Given the description of an element on the screen output the (x, y) to click on. 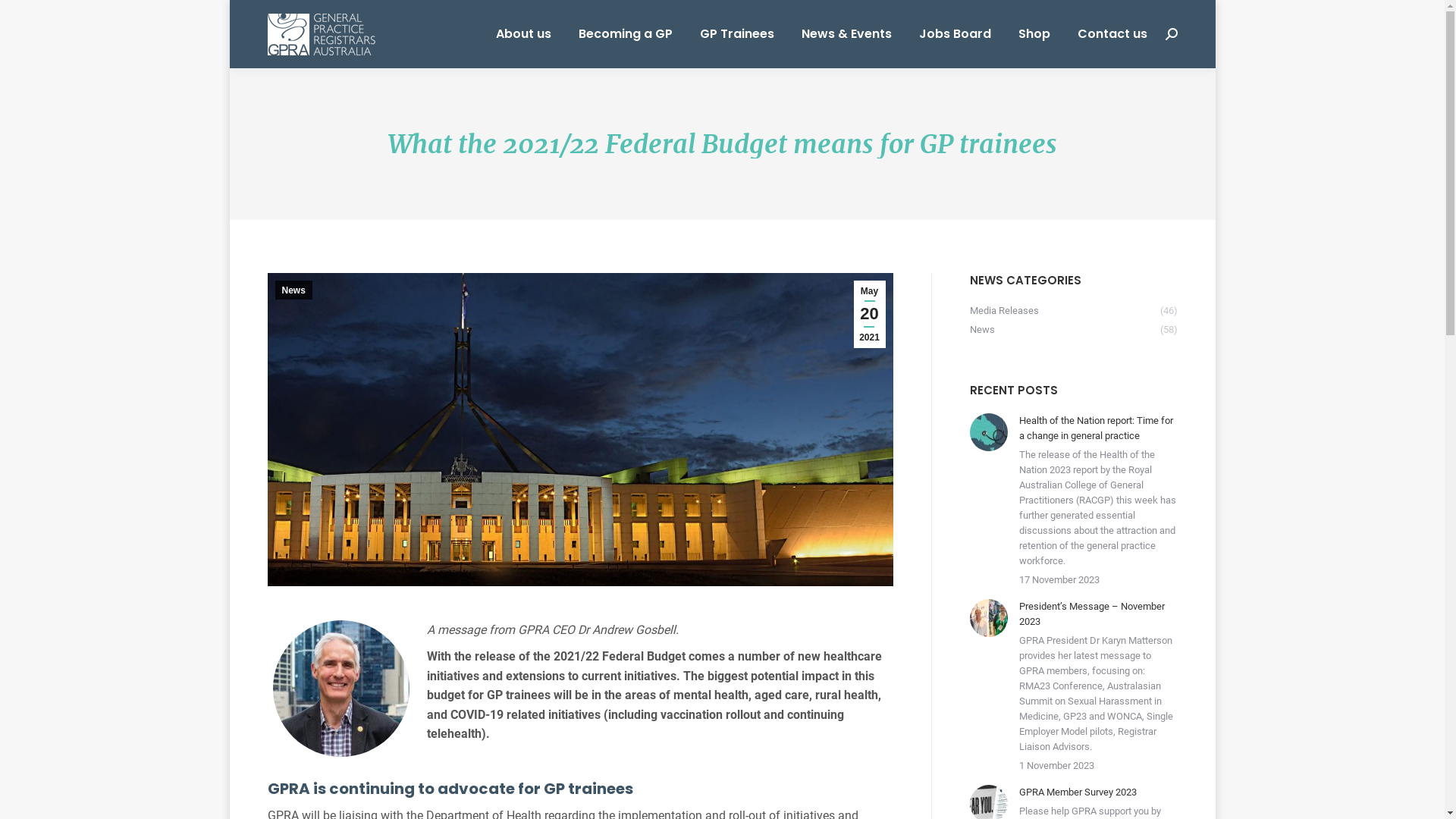
Contact us Element type: text (1111, 33)
Jobs Board Element type: text (955, 33)
News & Events Element type: text (845, 33)
Becoming a GP Element type: text (624, 33)
News Element type: text (292, 289)
GPRA Member Survey 2023 Element type: text (1077, 792)
GP Trainees Element type: text (736, 33)
About us Element type: text (523, 33)
May
20
2021 Element type: text (869, 314)
budget_news2 Element type: hover (579, 429)
Shop Element type: text (1033, 33)
Go! Element type: text (23, 16)
